Given the description of an element on the screen output the (x, y) to click on. 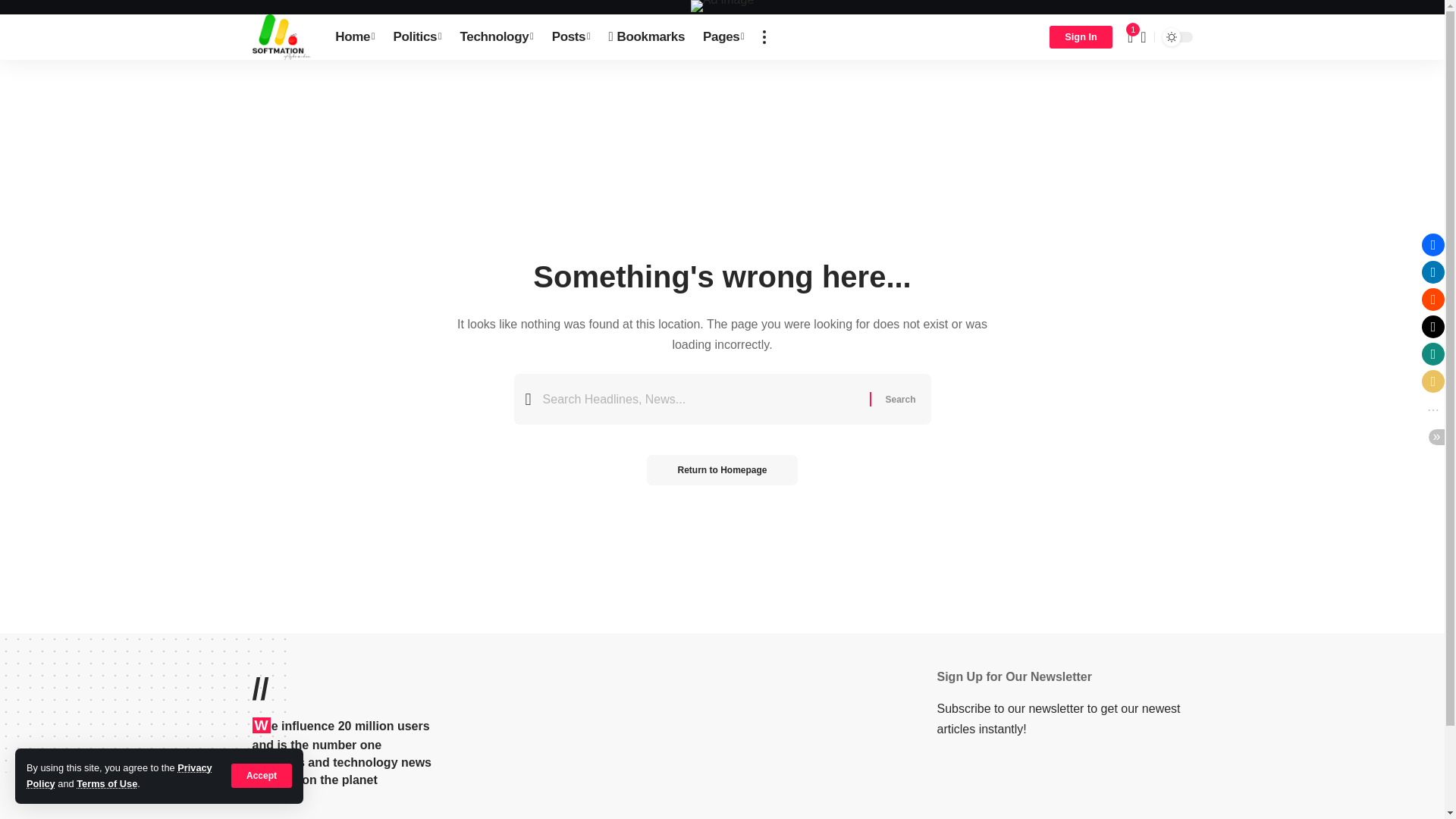
Posts (571, 36)
Privacy Policy (119, 775)
Technology (497, 36)
Bookmarks (646, 36)
Politics (416, 36)
Pages (724, 36)
Terms of Use (106, 783)
Sign In (1080, 36)
Accept (261, 775)
Search (899, 399)
Home (355, 36)
Softmation (281, 36)
